Given the description of an element on the screen output the (x, y) to click on. 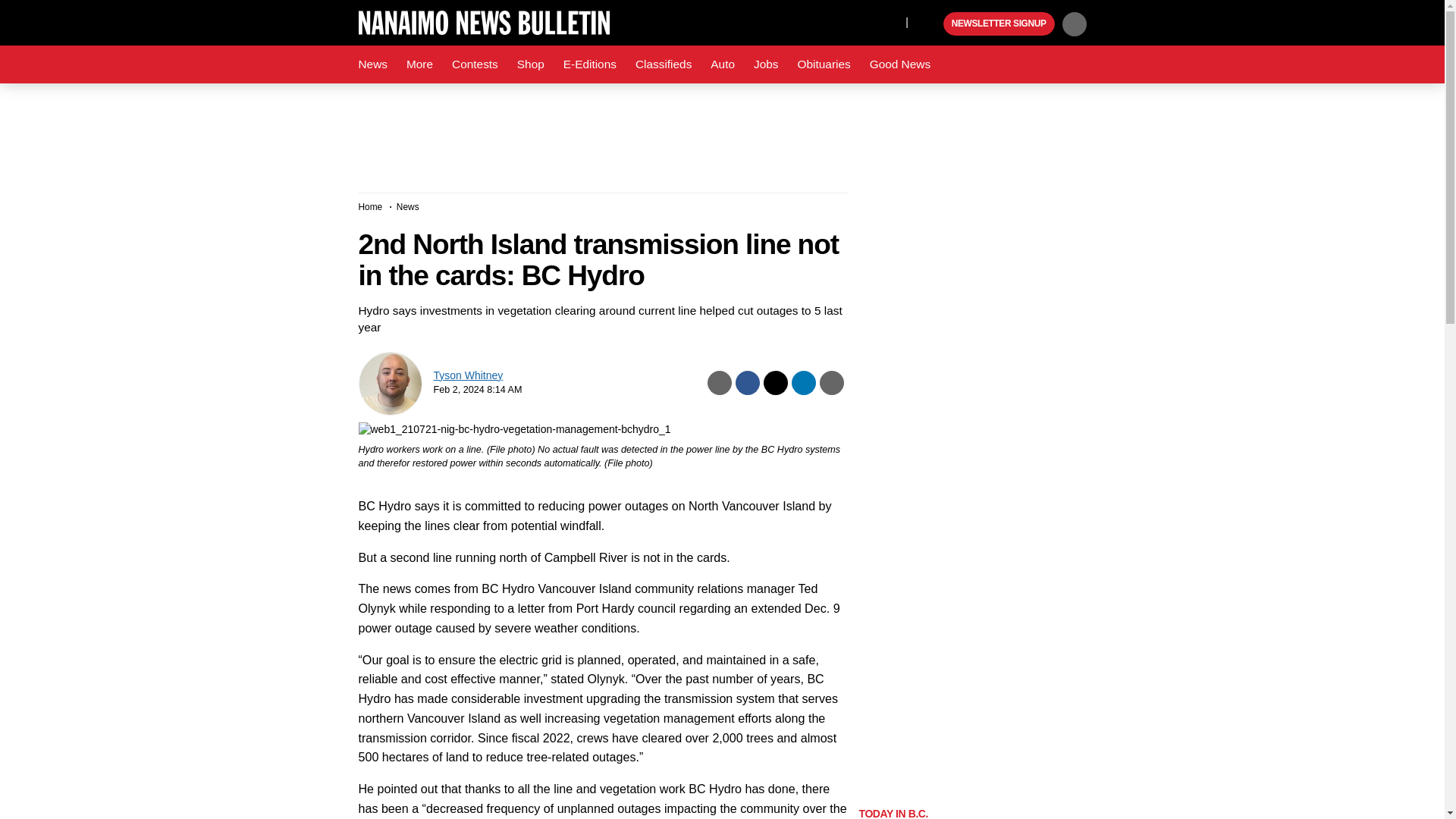
Black Press Media (929, 24)
NEWSLETTER SIGNUP (998, 24)
Play (929, 24)
News (372, 64)
X (889, 21)
